Given the description of an element on the screen output the (x, y) to click on. 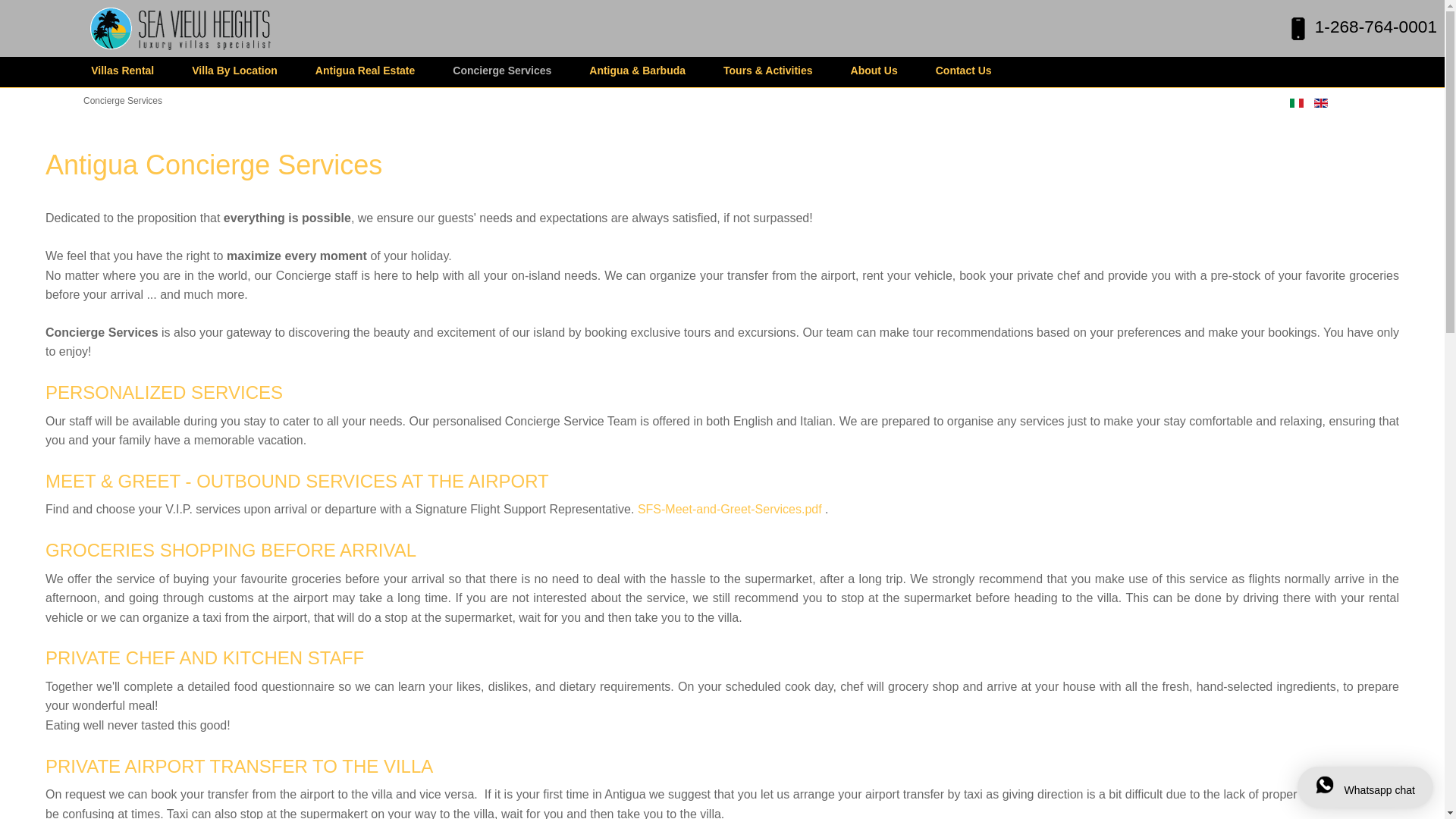
SFS-Meet-and-Greet-Services.pdf (729, 508)
English (1320, 102)
Italian (1296, 102)
